Given the description of an element on the screen output the (x, y) to click on. 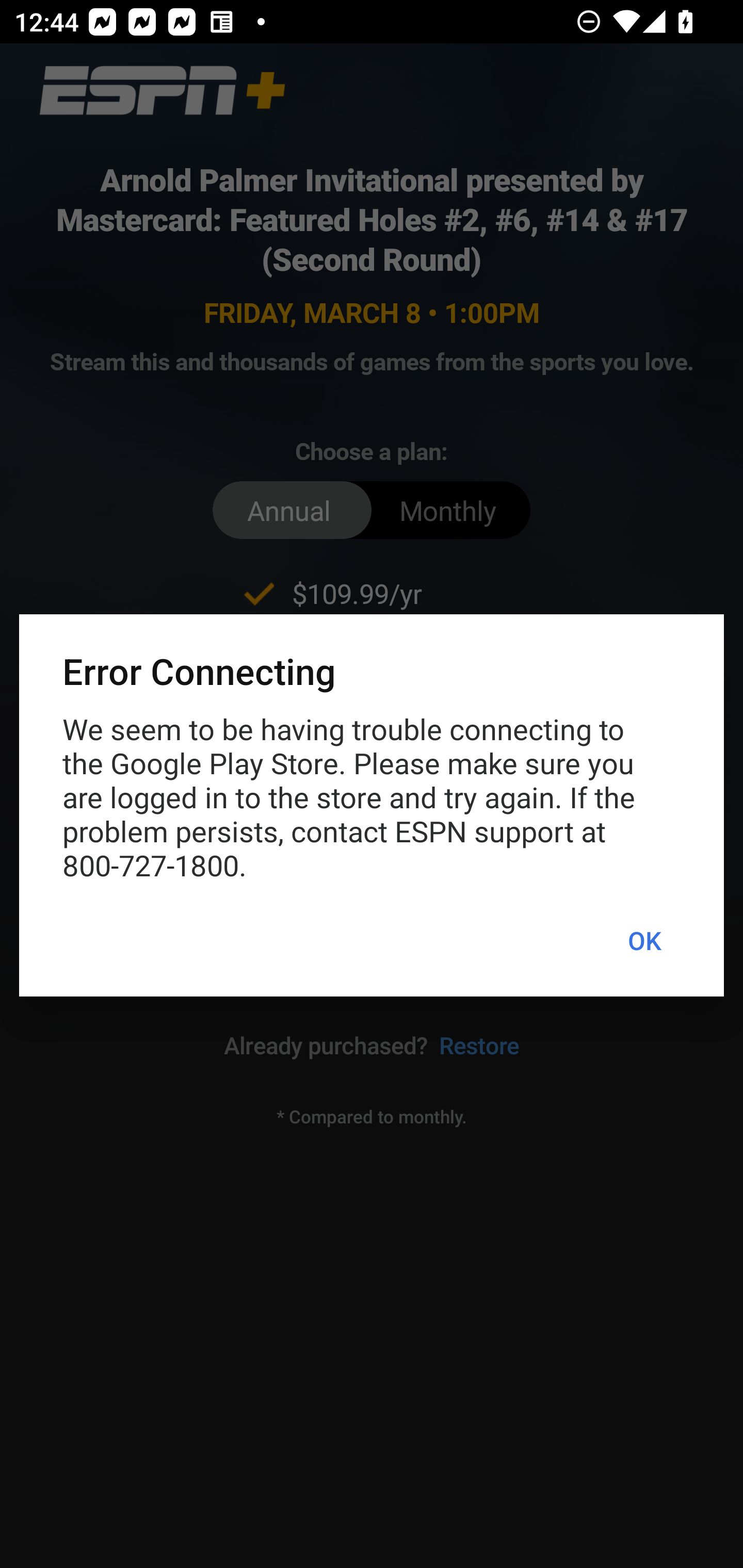
OK (644, 940)
